Given the description of an element on the screen output the (x, y) to click on. 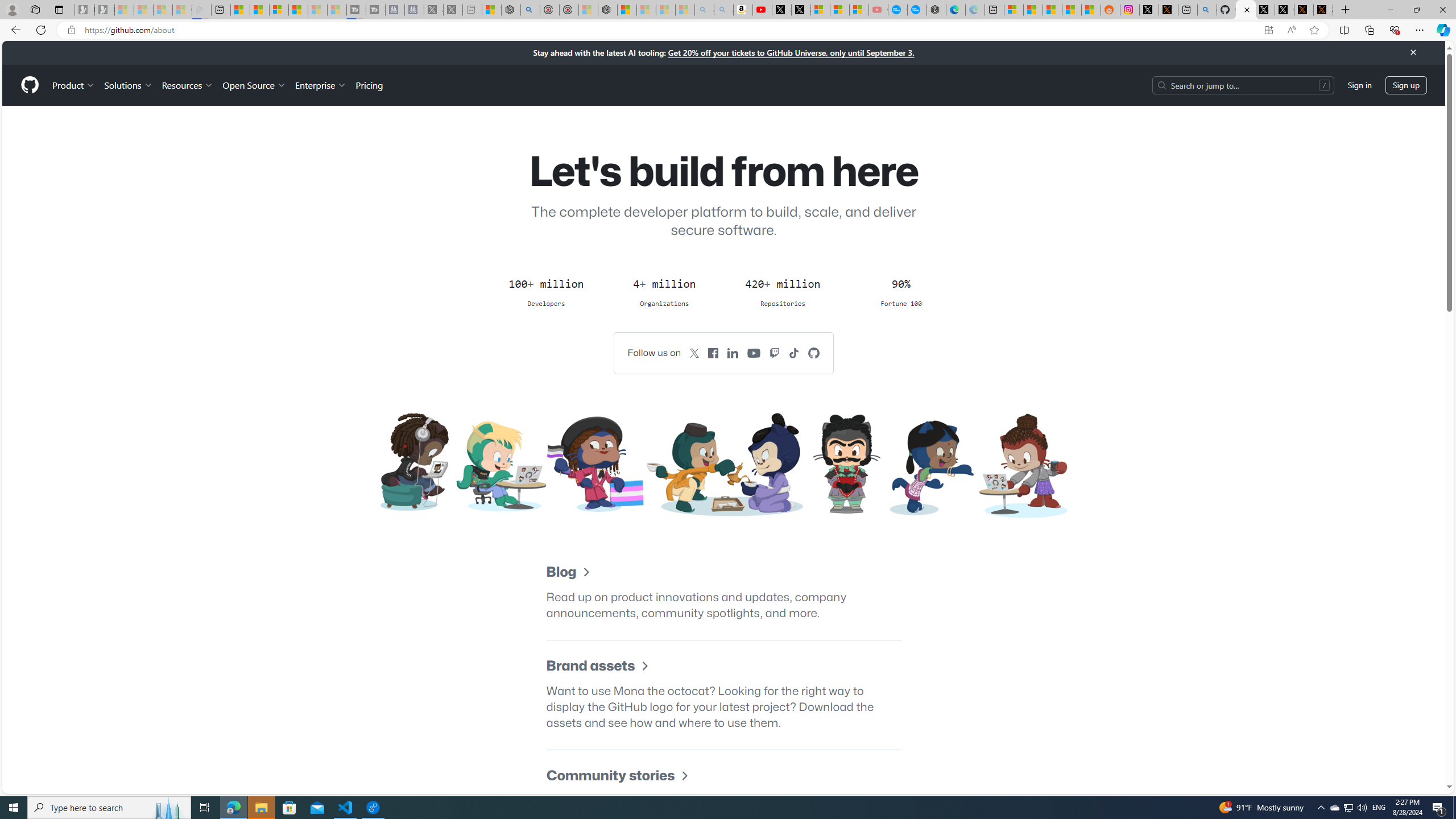
X Privacy Policy (1323, 9)
GitHub on X (694, 352)
Enterprise (319, 84)
GitHub on Twitch (775, 352)
